Given the description of an element on the screen output the (x, y) to click on. 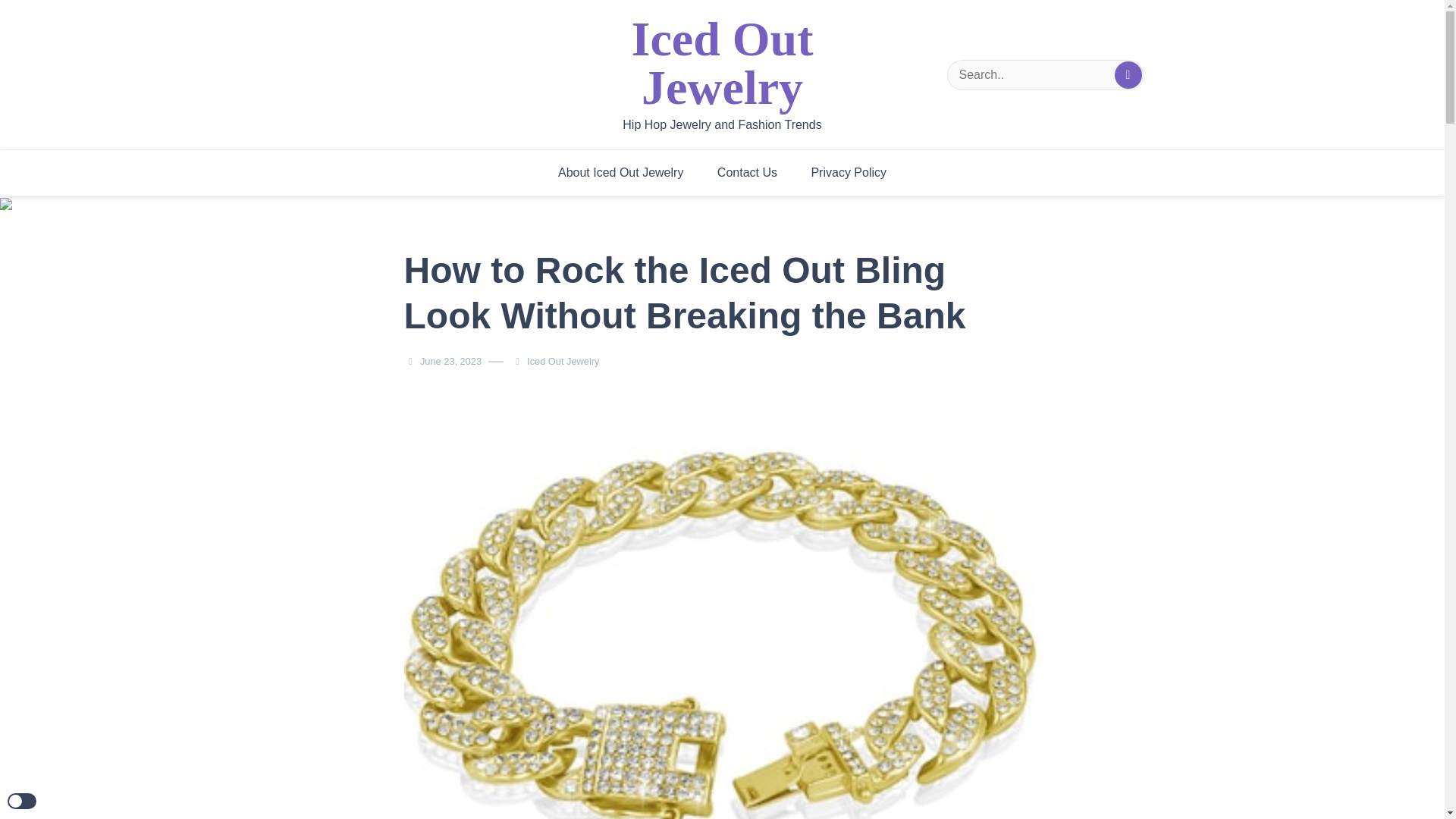
June 23, 2023 (450, 360)
Privacy Policy (847, 173)
About Iced Out Jewelry (620, 173)
Contact Us (746, 173)
Iced Out Jewelry (567, 360)
Iced Out Jewelry (722, 63)
